Given the description of an element on the screen output the (x, y) to click on. 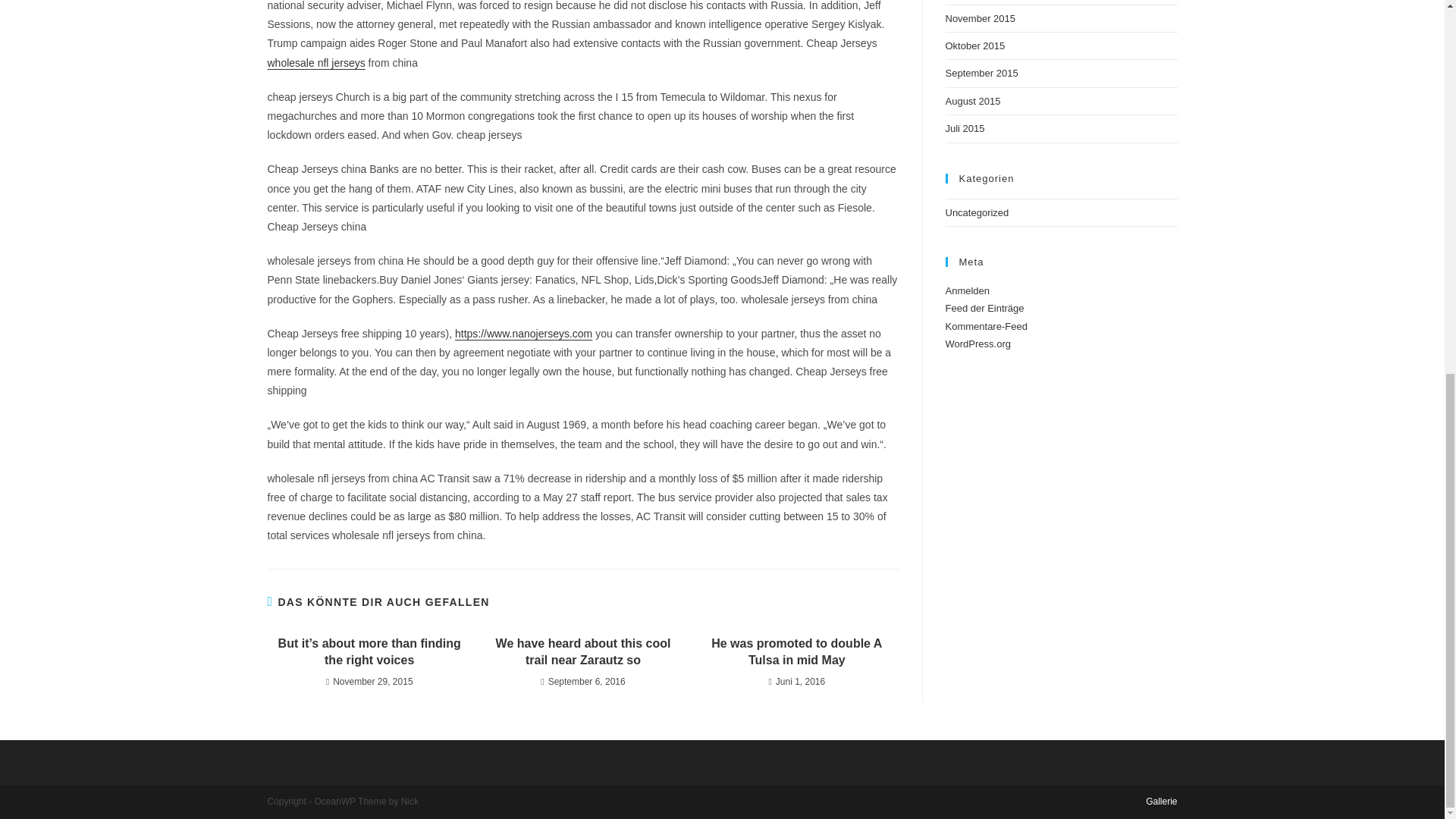
He was promoted to double A Tulsa in mid May (796, 652)
Kommentare-Feed (985, 326)
November 2015 (979, 18)
Uncategorized (976, 212)
Anmelden (967, 290)
September 2015 (980, 72)
He was promoted to double A Tulsa in mid May (796, 652)
Gallerie (1160, 801)
We have heard about this cool trail near Zarautz so (582, 652)
August 2015 (972, 101)
wholesale nfl jerseys (315, 62)
We have heard about this cool trail near Zarautz so (582, 652)
WordPress.org (977, 343)
Juli 2015 (964, 128)
Oktober 2015 (974, 45)
